Given the description of an element on the screen output the (x, y) to click on. 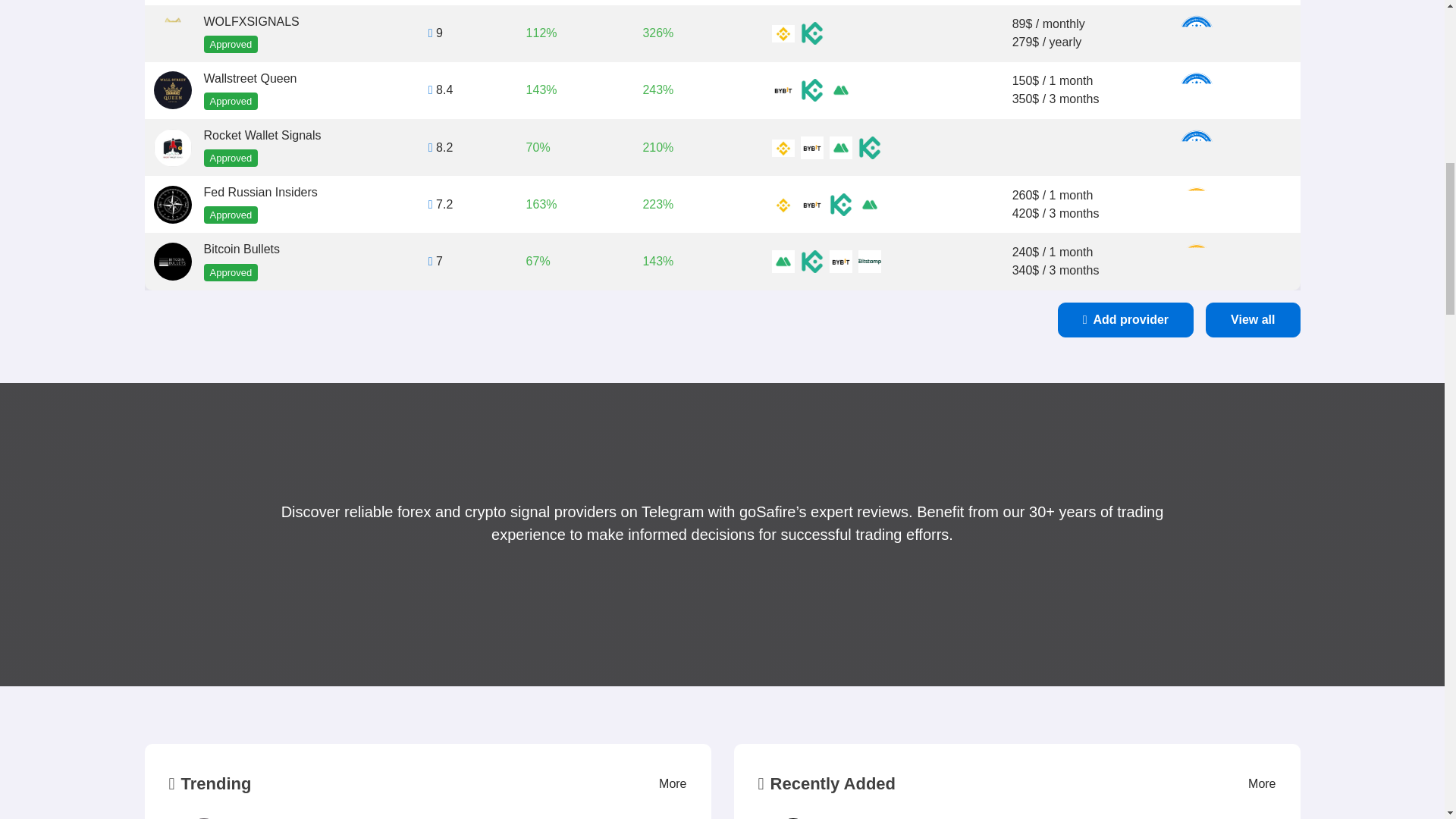
Kucoin (869, 147)
Bybit (782, 89)
Binance (782, 147)
Binance (782, 33)
MEXC (840, 147)
Kucoin (812, 89)
Bybit (812, 147)
Kucoin (812, 33)
MEXC (840, 89)
